Given the description of an element on the screen output the (x, y) to click on. 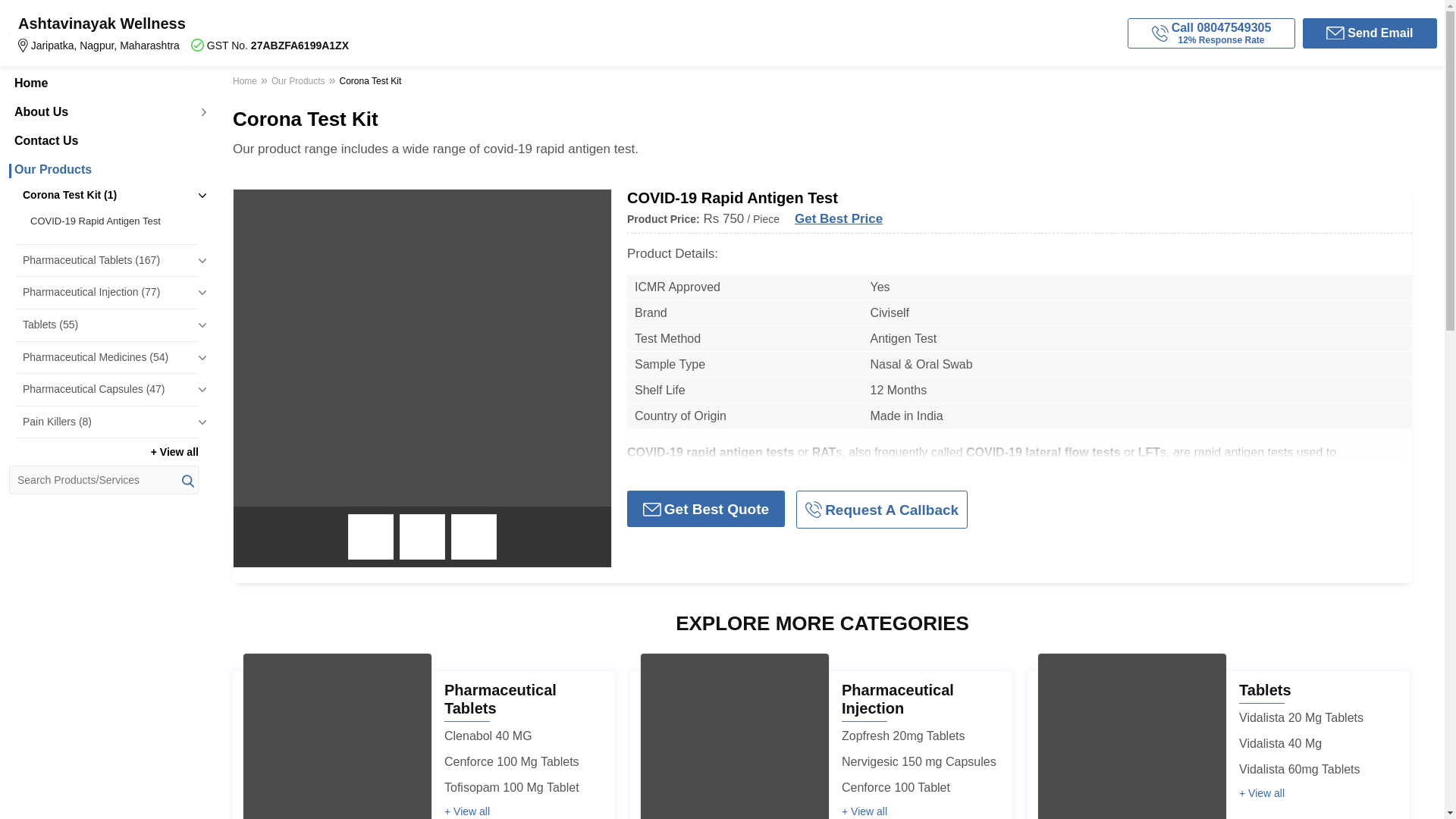
Contact Us (103, 141)
About Us (103, 111)
COVID-19 Rapid Antigen Test (110, 221)
Home (103, 82)
Our Products (103, 169)
